Given the description of an element on the screen output the (x, y) to click on. 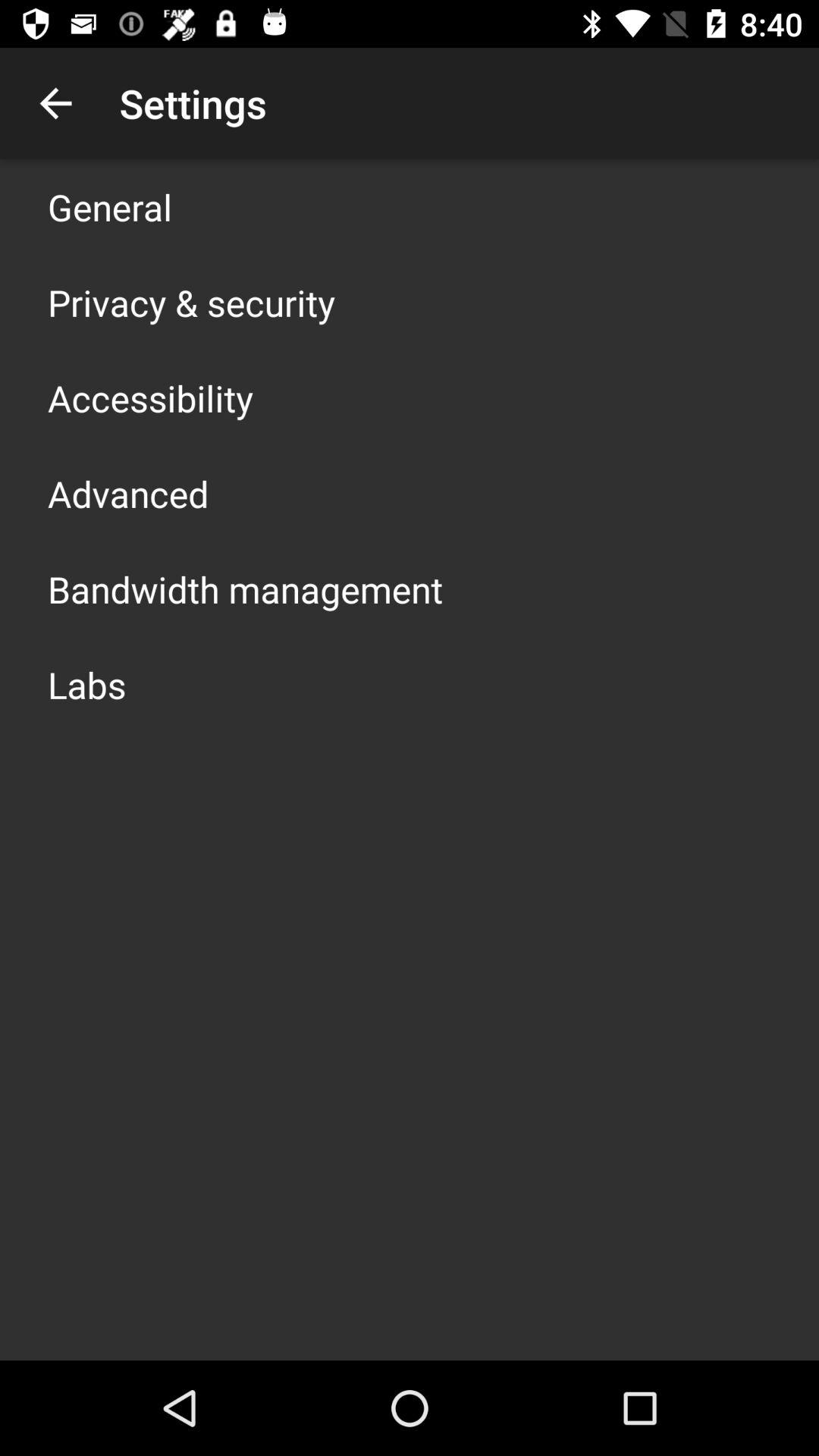
jump to privacy & security (190, 302)
